Given the description of an element on the screen output the (x, y) to click on. 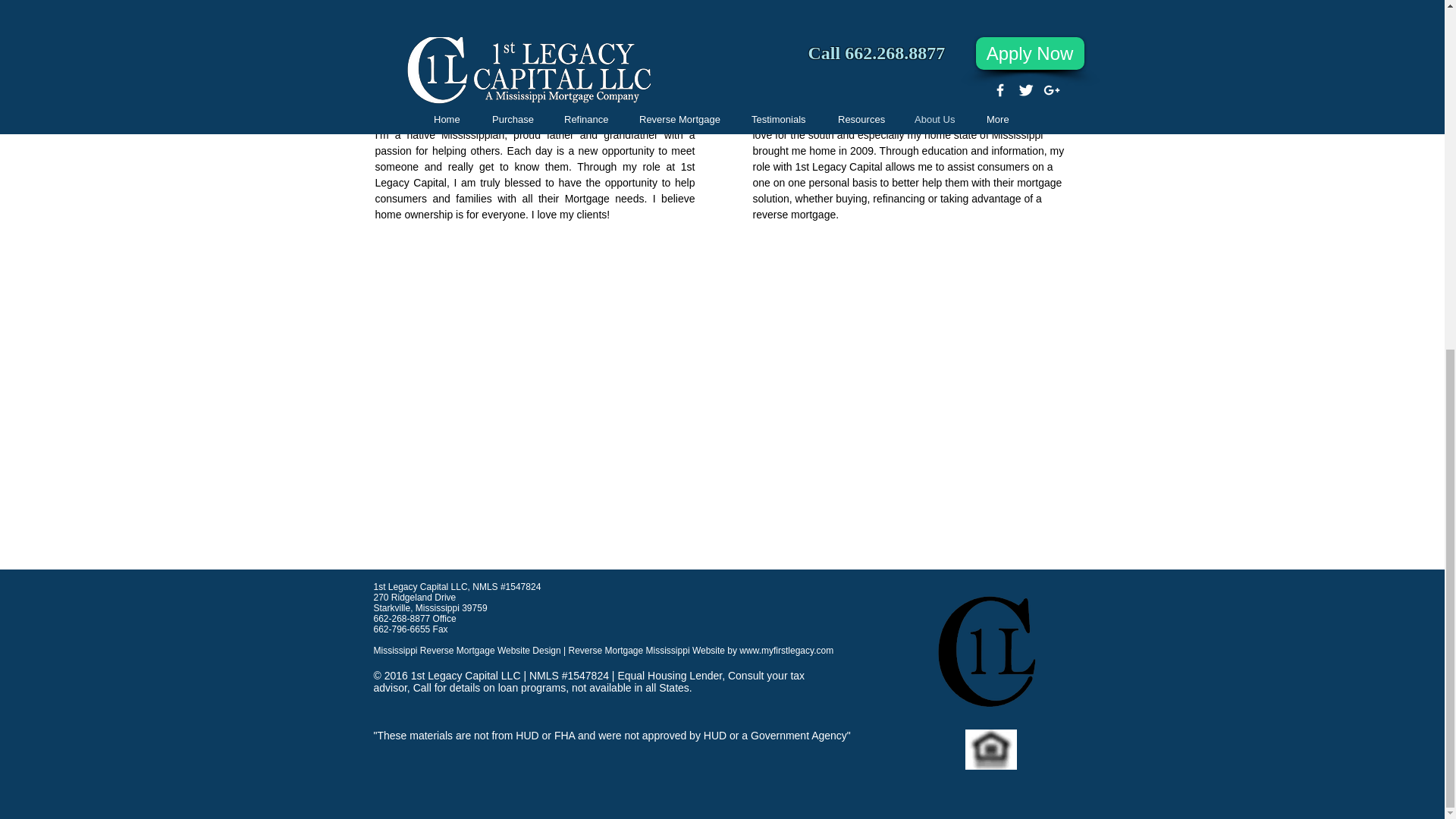
www.myfirstlegacy.com (785, 650)
ken.jpg (802, 6)
